Given the description of an element on the screen output the (x, y) to click on. 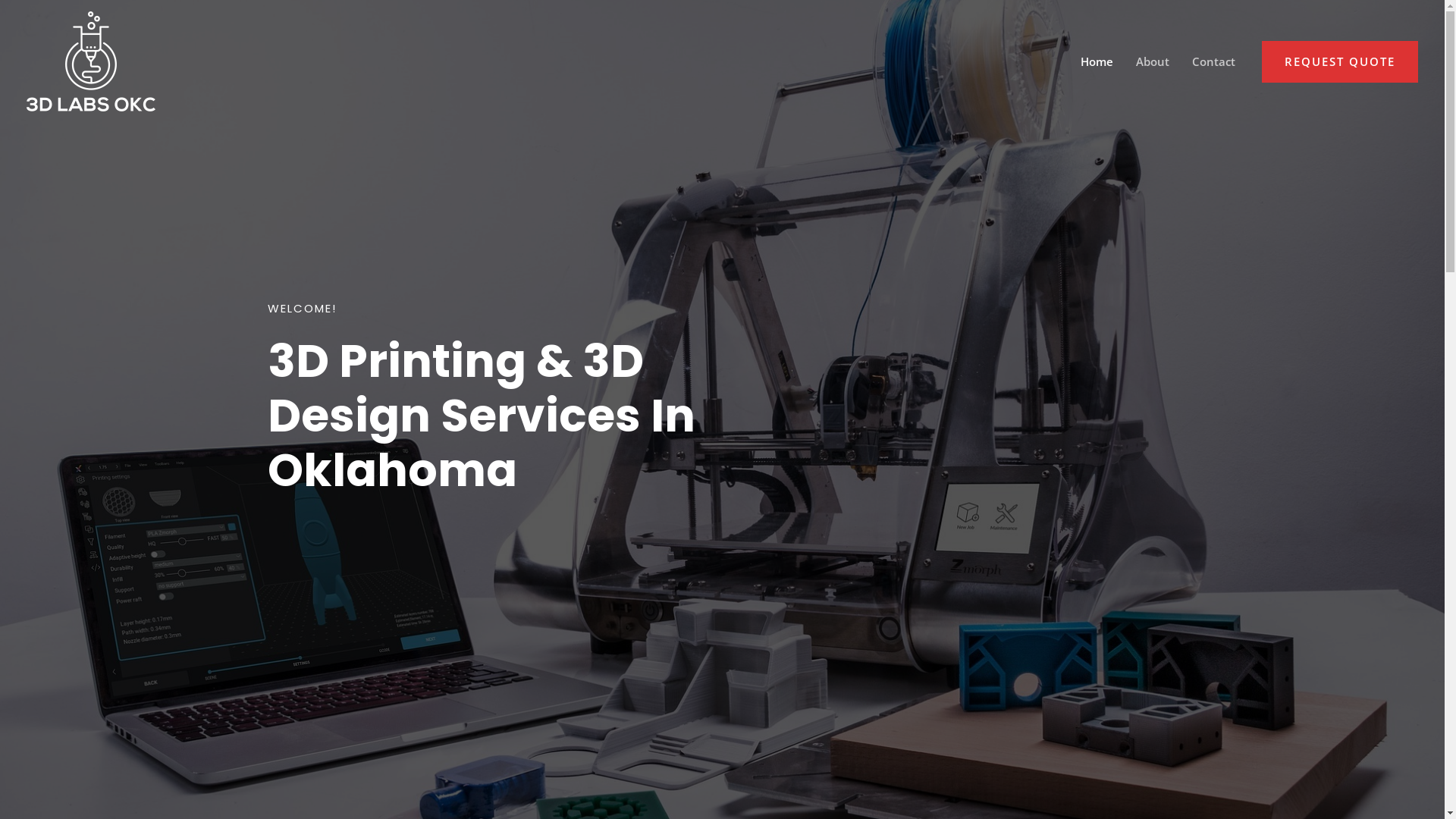
Home Element type: text (1096, 61)
REQUEST QUOTE Element type: text (1339, 61)
Contact Element type: text (1213, 61)
About Element type: text (1152, 61)
